Given the description of an element on the screen output the (x, y) to click on. 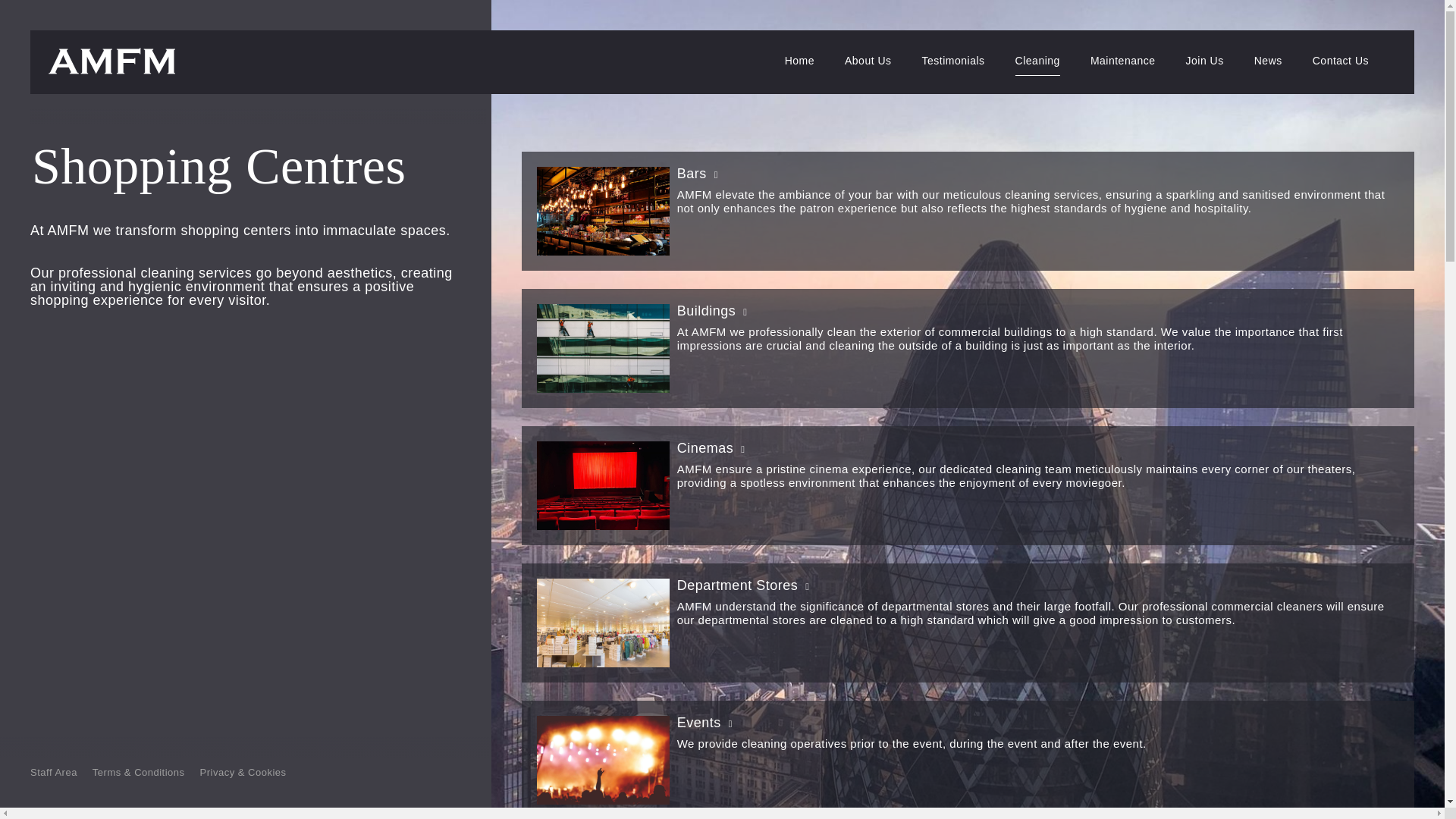
Cleaning (1036, 65)
Testimonials (953, 65)
Company Name (113, 60)
Home (798, 65)
About Us (867, 65)
Maintenance (1123, 65)
